Given the description of an element on the screen output the (x, y) to click on. 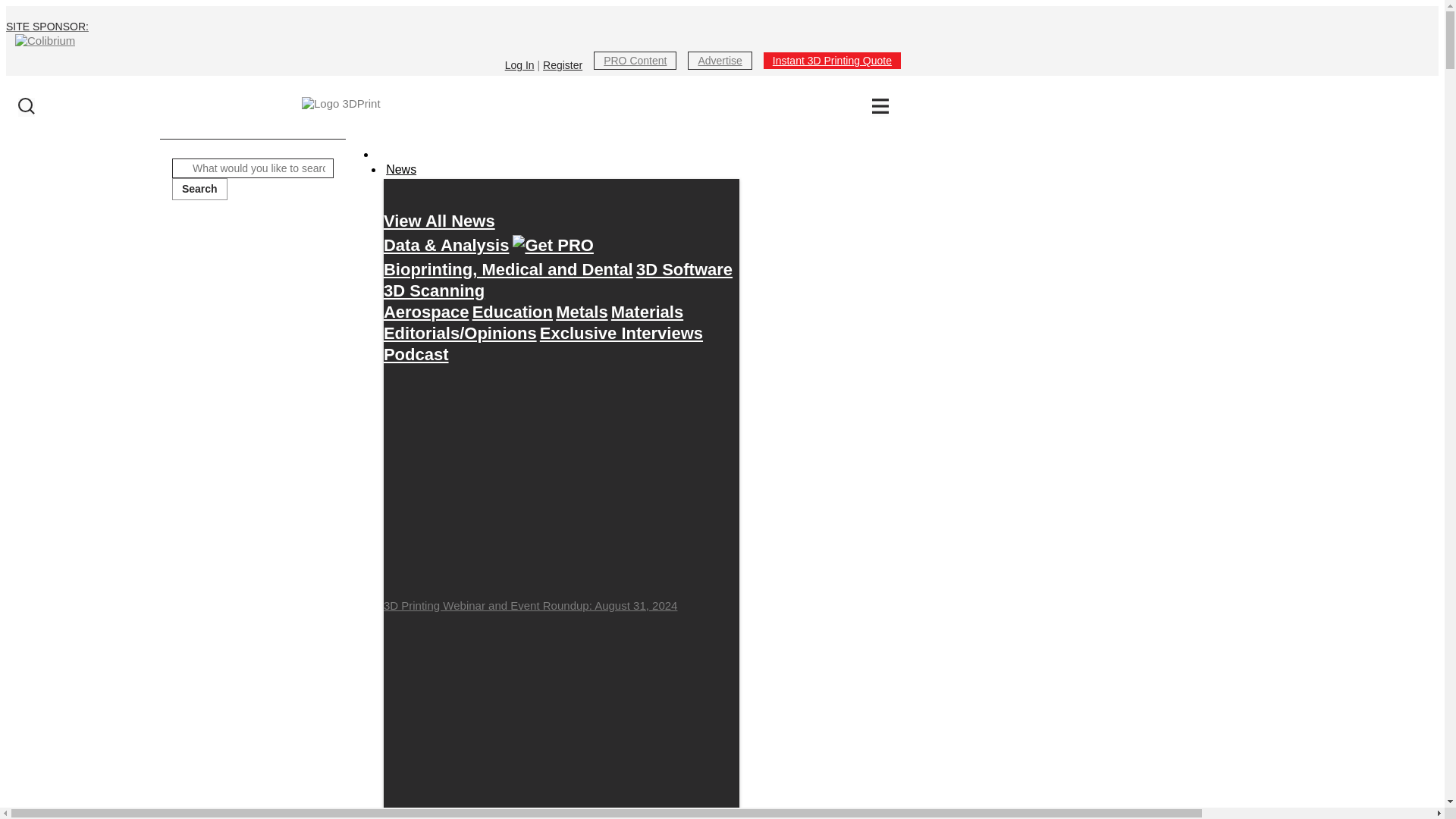
Podcast (416, 354)
News (401, 169)
PRO Content (635, 59)
Metals (581, 311)
3D Software (684, 269)
3D Printing Webinar and Event Roundup: August 31, 2024 (561, 489)
Materials (646, 311)
Log In (519, 64)
View All News (439, 220)
Instant 3D Printing Quote (831, 59)
